Given the description of an element on the screen output the (x, y) to click on. 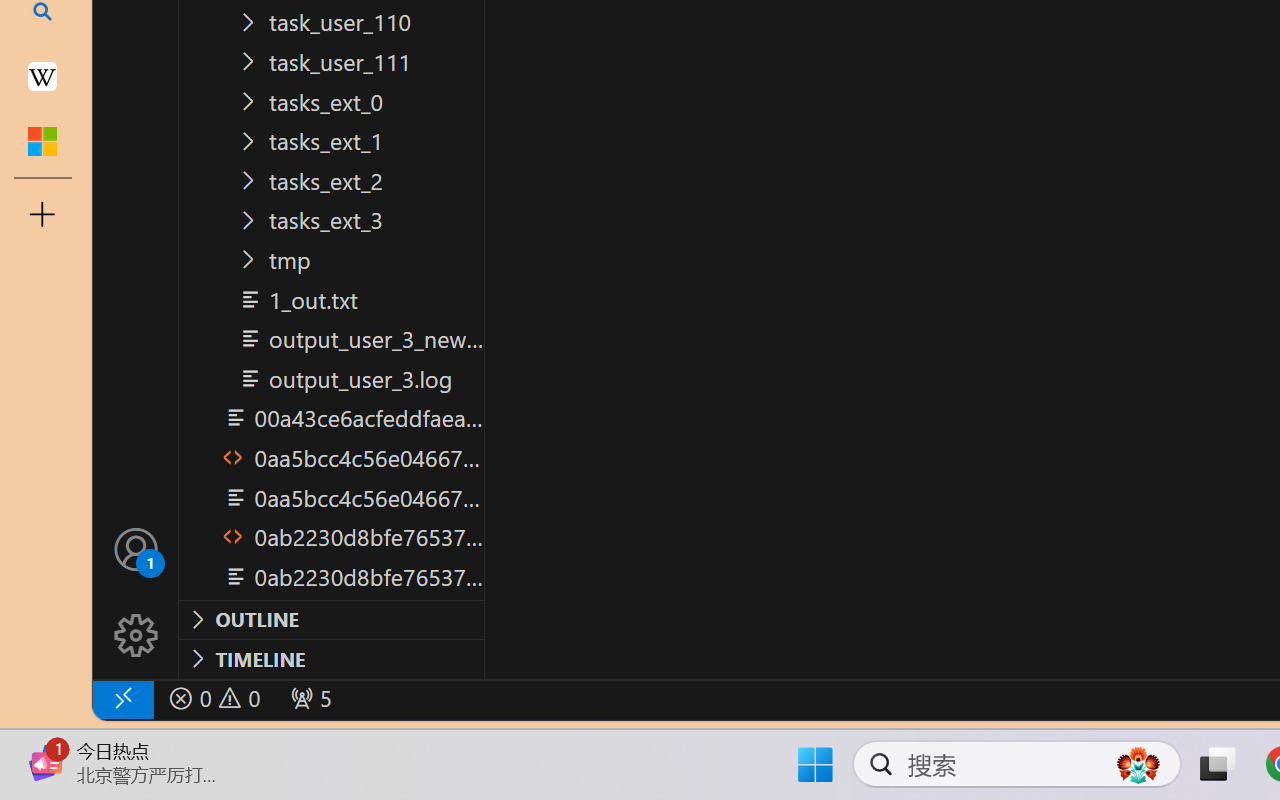
Forwarded Ports: 36301, 47065, 38781, 45817, 50331 (308, 698)
remote (122, 698)
Outline Section (331, 619)
Earth - Wikipedia (42, 75)
No Problems (212, 698)
Timeline Section (331, 658)
Accounts - Sign in requested (135, 548)
